Given the description of an element on the screen output the (x, y) to click on. 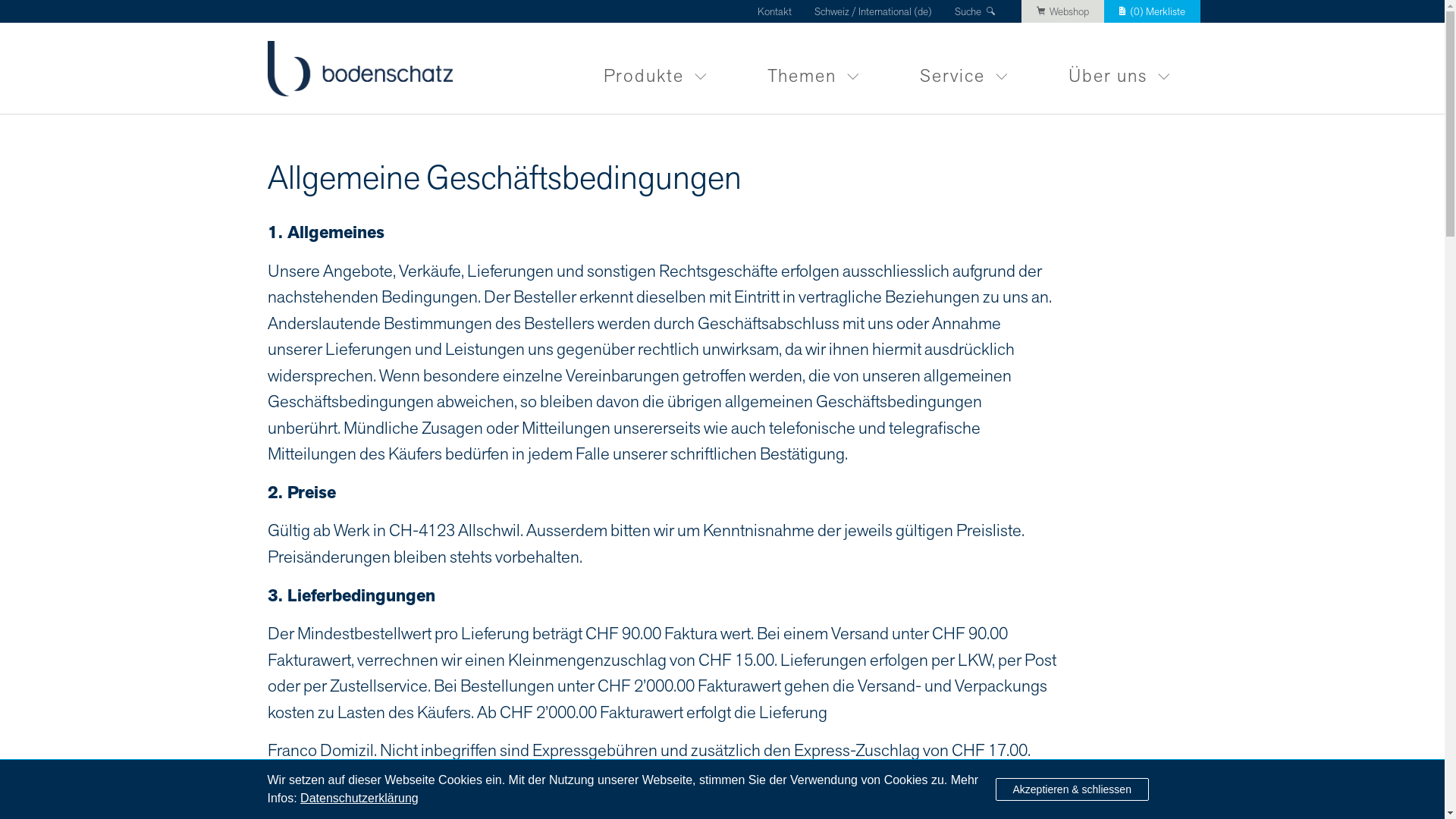
(0) Merkliste Element type: text (1152, 11)
Suche Element type: text (976, 11)
Themen Element type: text (813, 67)
Kontakt Element type: text (774, 11)
Service Element type: text (962, 67)
Akzeptieren & schliessen Element type: text (1071, 789)
Produkte Element type: text (655, 67)
Webshop Element type: text (1062, 11)
